Given the description of an element on the screen output the (x, y) to click on. 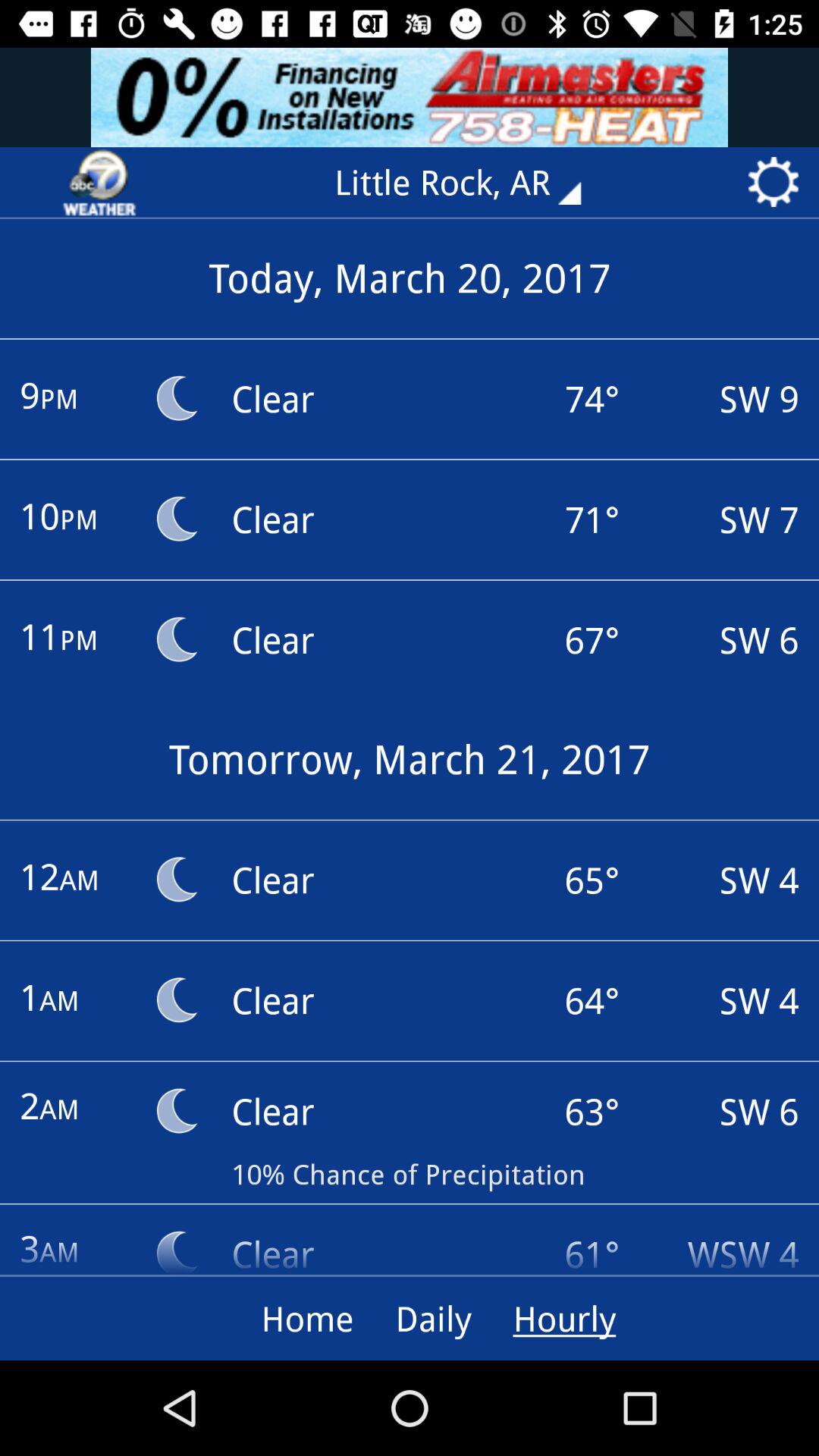
turn off the icon next to little rock, ar icon (99, 182)
